Given the description of an element on the screen output the (x, y) to click on. 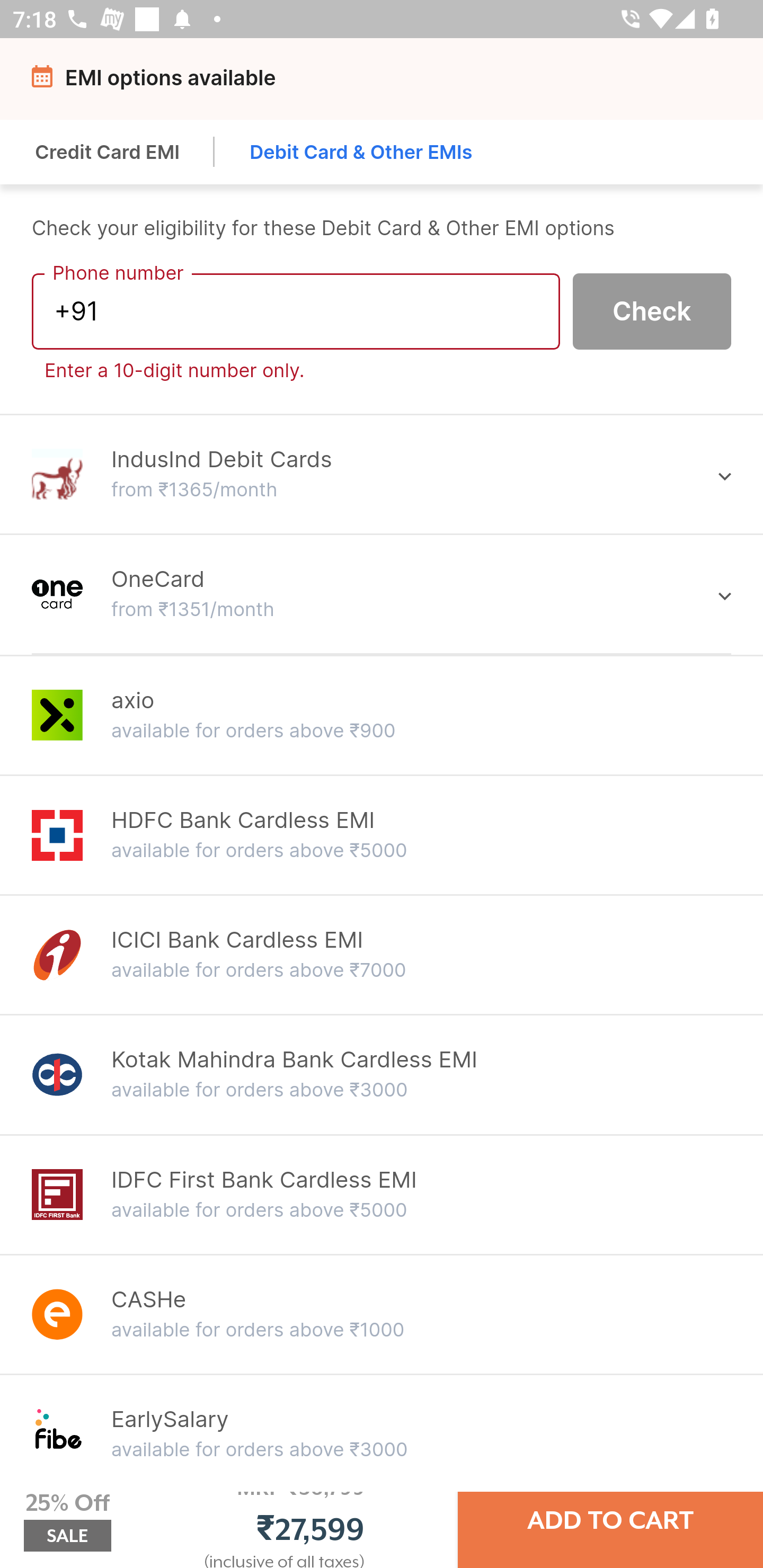
Navigate up (44, 82)
Credit Card EMI (107, 152)
Debit Card & Other EMIs (361, 152)
Check (651, 310)
OneCard OneCard from ₹1351/month (381, 593)
ADD TO CART (610, 1520)
